Given the description of an element on the screen output the (x, y) to click on. 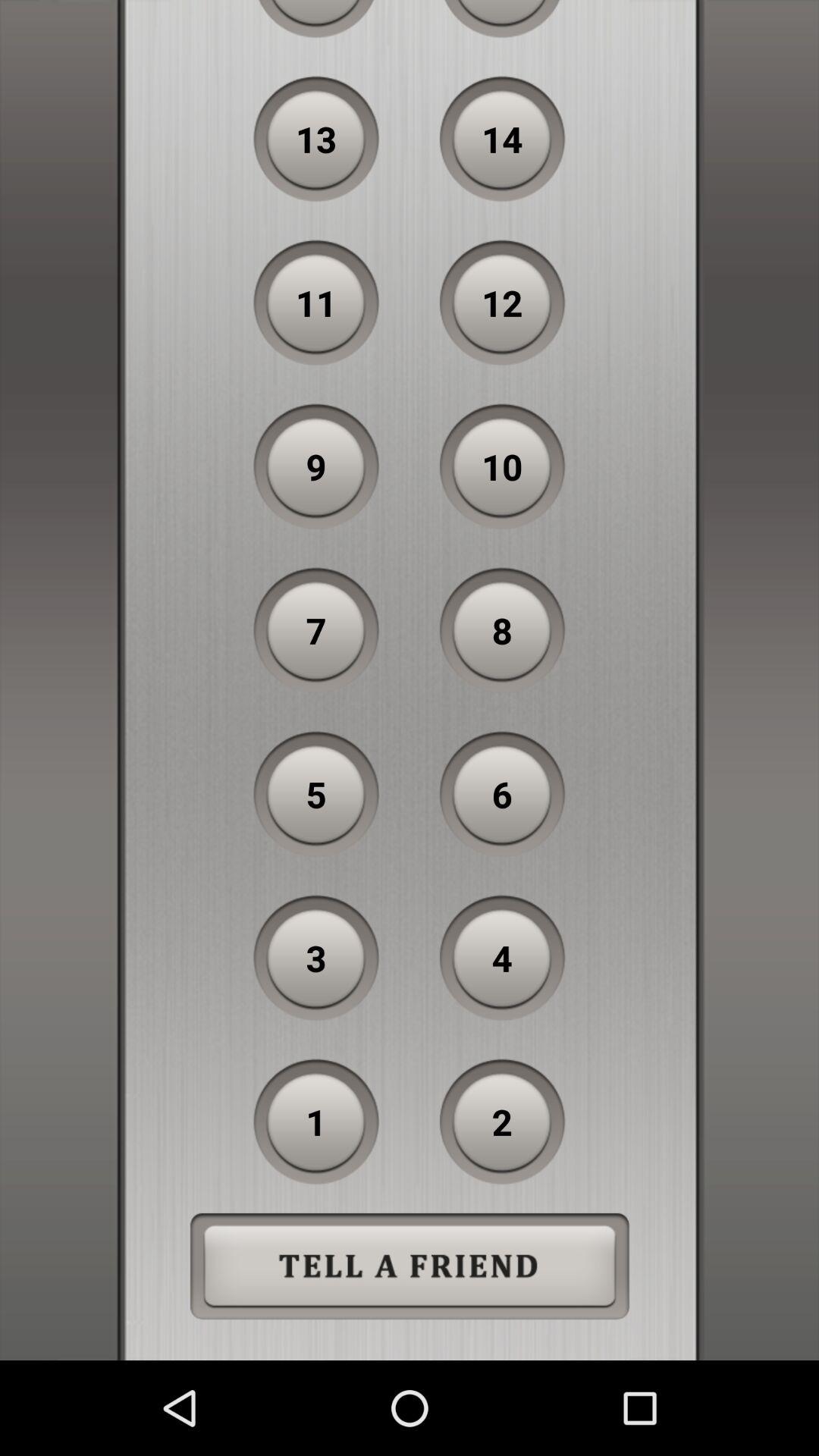
click the item below 3 item (316, 1121)
